Given the description of an element on the screen output the (x, y) to click on. 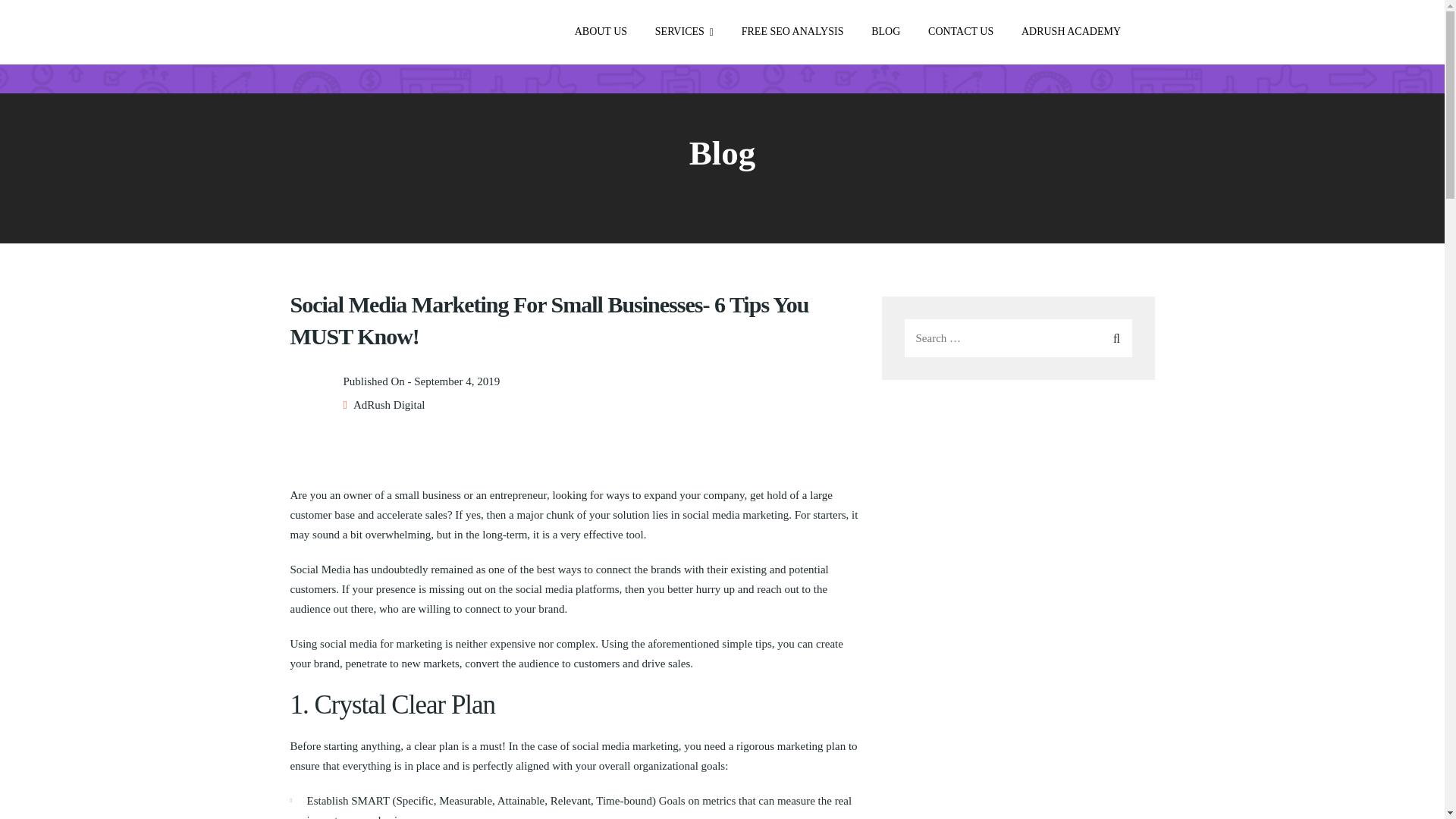
September 4, 2019 (456, 381)
CONTACT US (960, 31)
SERVICES (684, 31)
ADRUSH ACADEMY (1071, 31)
AdRush Digital (389, 404)
FREE SEO ANALYSIS (792, 31)
